Given the description of an element on the screen output the (x, y) to click on. 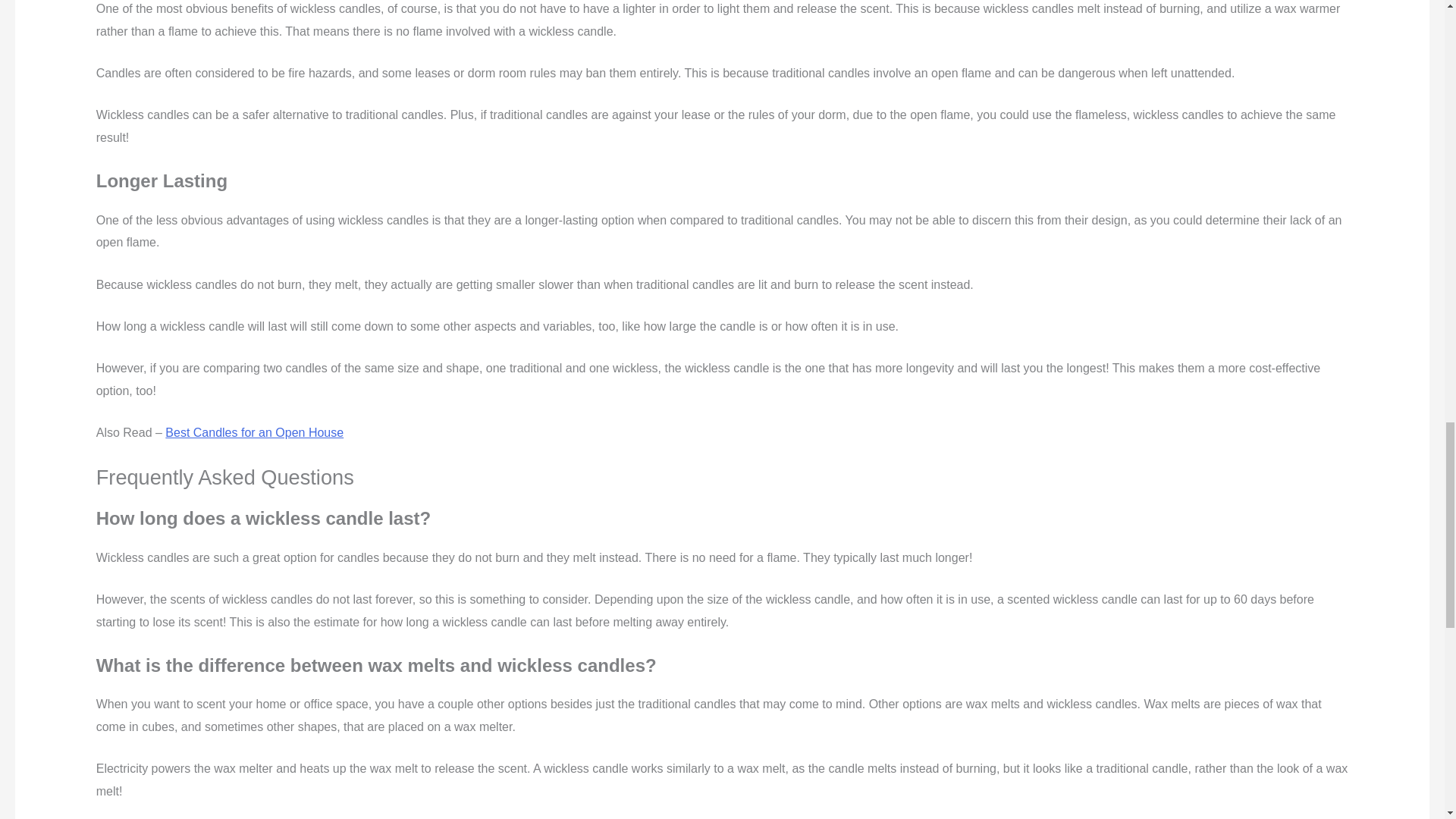
Best Candles for an Open House (254, 431)
